Given the description of an element on the screen output the (x, y) to click on. 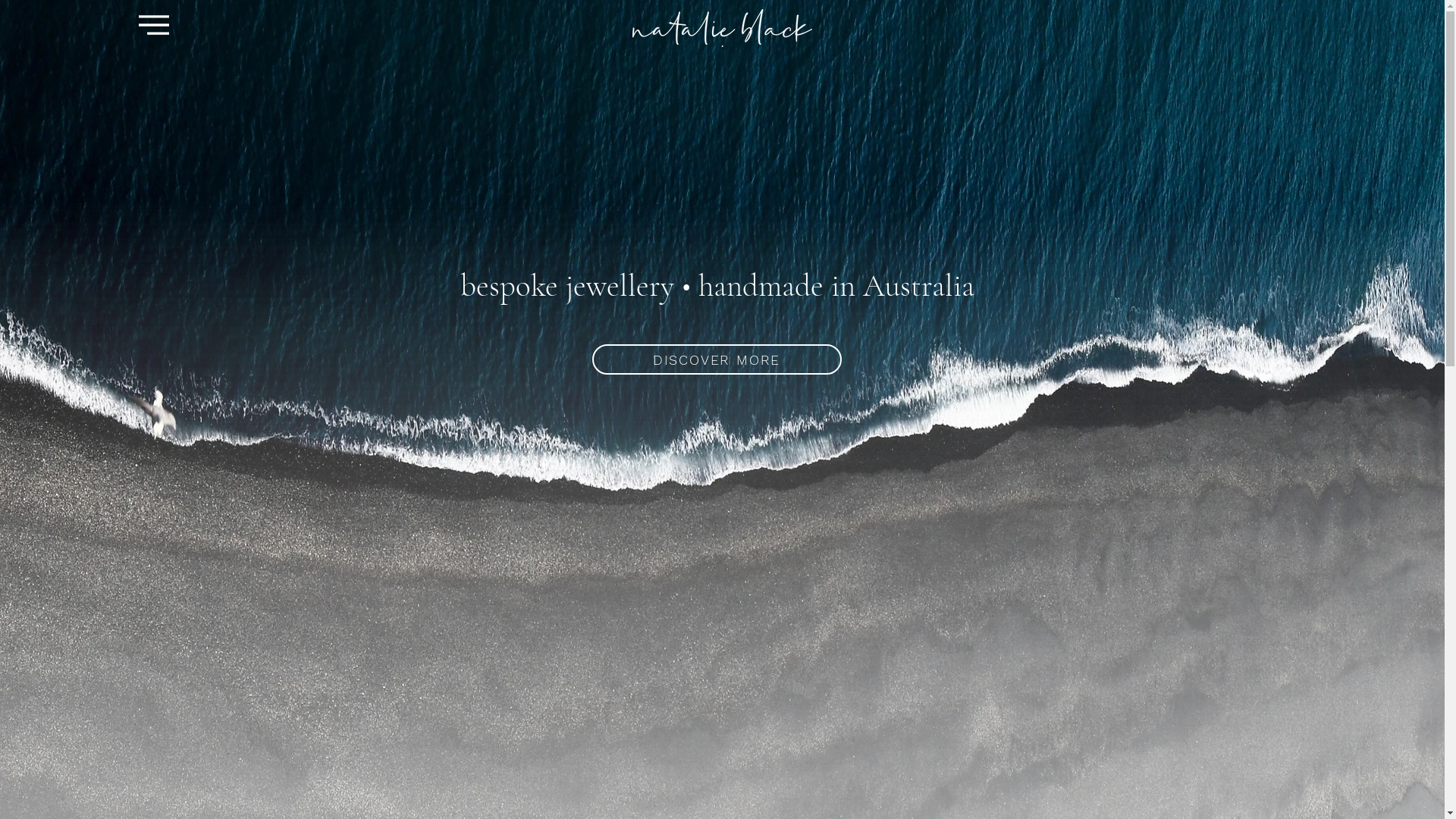
DISCOVER MORE Element type: text (715, 359)
